Given the description of an element on the screen output the (x, y) to click on. 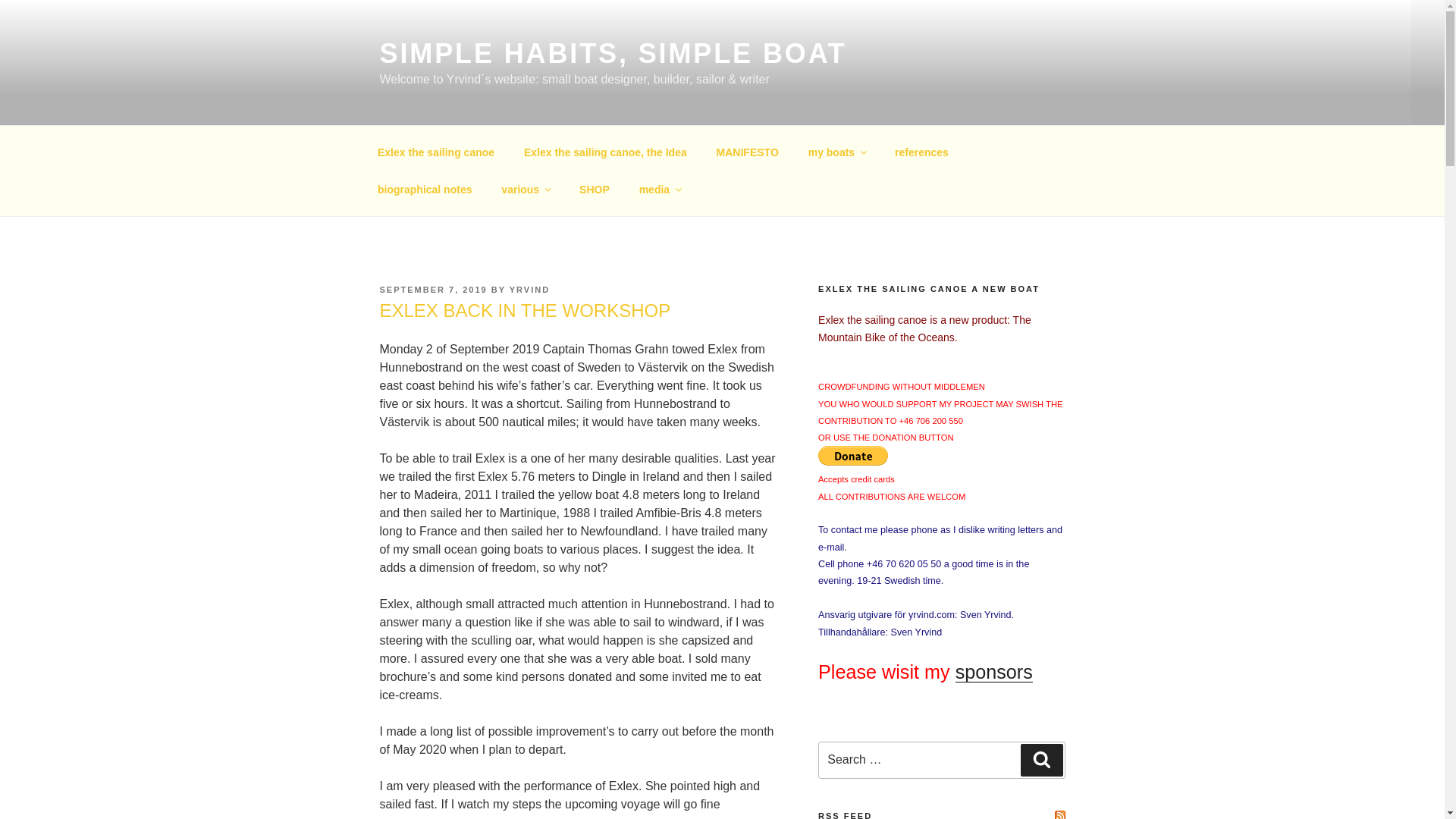
biographical notes (424, 189)
various (525, 189)
Exlex the sailing canoe, the Idea (605, 151)
my boats (835, 151)
MANIFESTO (747, 151)
SIMPLE HABITS, SIMPLE BOAT (611, 52)
references (922, 151)
Exlex the sailing canoe (435, 151)
